Given the description of an element on the screen output the (x, y) to click on. 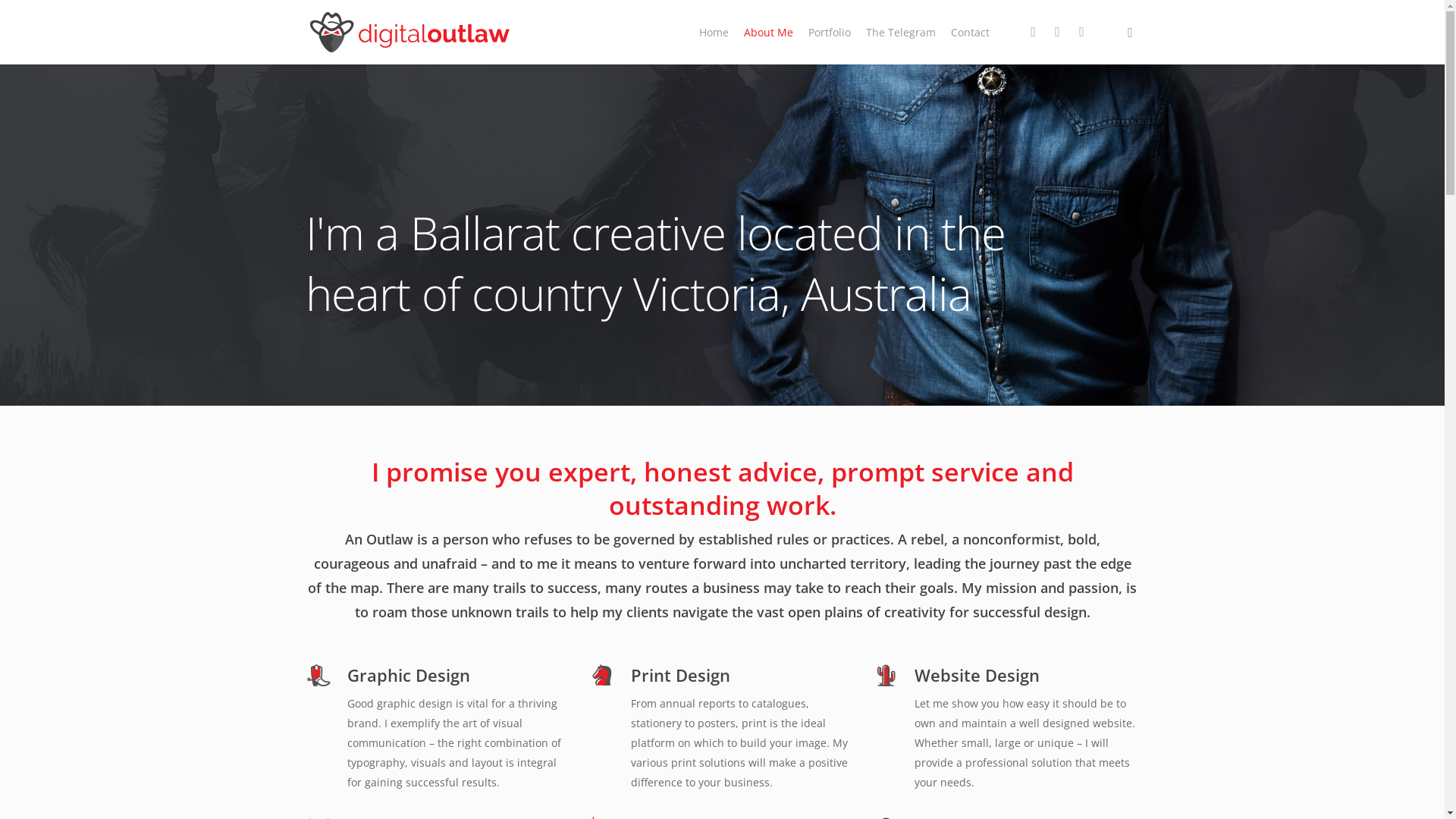
Contact Element type: text (970, 31)
twitter Element type: text (1095, 793)
About Me Element type: text (767, 31)
twitter Element type: text (1032, 31)
Home Element type: text (402, 543)
The Telegram Element type: text (402, 636)
linkedin Element type: text (1081, 31)
The Telegram Element type: text (900, 31)
Home Element type: text (713, 31)
search Element type: text (1129, 31)
About Me Element type: text (402, 572)
facebook Element type: text (1056, 31)
Contact Element type: text (402, 668)
Portfolio Element type: text (829, 31)
linkedin Element type: text (1136, 793)
GET IN TOUCH Element type: text (968, 398)
jamie@digitaloutlaw.com.au Element type: text (1027, 614)
Portfolio Element type: text (402, 604)
facebook Element type: text (1115, 793)
